Given the description of an element on the screen output the (x, y) to click on. 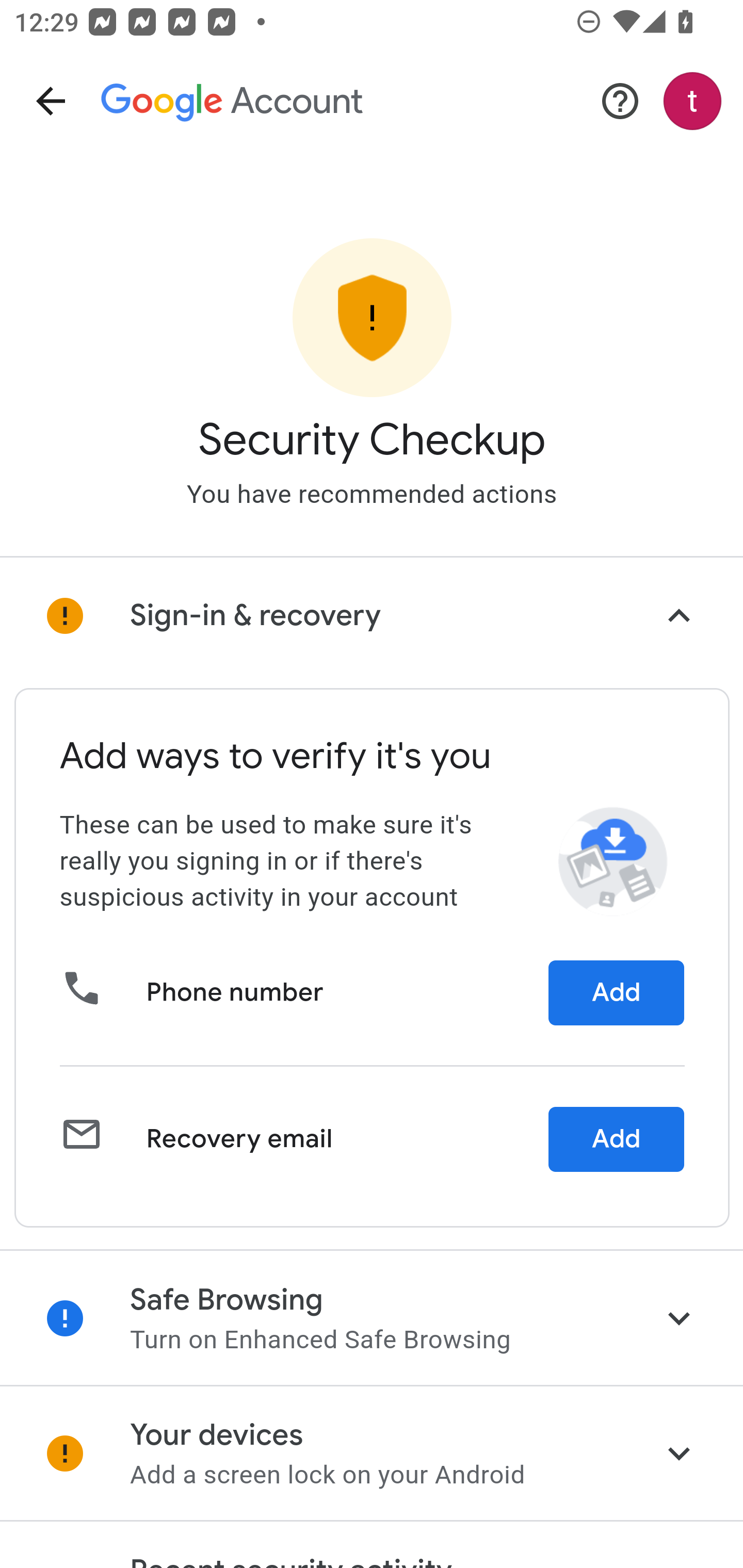
Navigate up (50, 101)
Help & feedback (619, 101)
Issues found in sign-in & recovery (371, 615)
Add your phone number (616, 993)
Add a recovery email (616, 1138)
Safe Browsing Turn on Enhanced Safe Browsing (371, 1317)
